Given the description of an element on the screen output the (x, y) to click on. 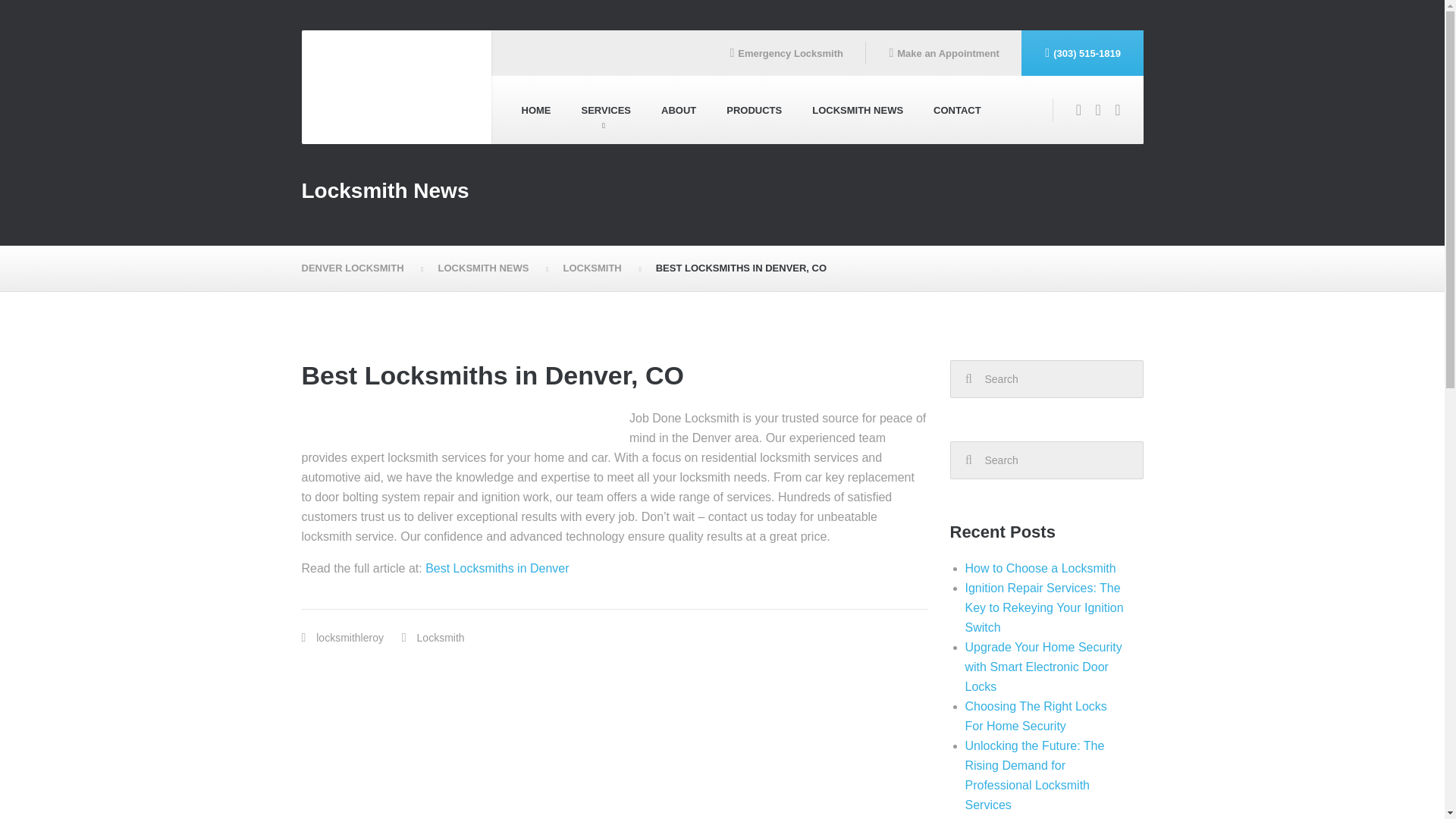
Locksmith (440, 637)
PRODUCTS (753, 110)
Best Locksmiths in Denver (497, 567)
Go to Denver Locksmith. (362, 268)
Choosing The Right Locks For Home Security (1034, 716)
Emergency Locksmith (785, 53)
Go to the Locksmith Category archives. (601, 268)
CONTACT (956, 110)
Upgrade Your Home Security with Smart Electronic Door Locks (1042, 666)
